Given the description of an element on the screen output the (x, y) to click on. 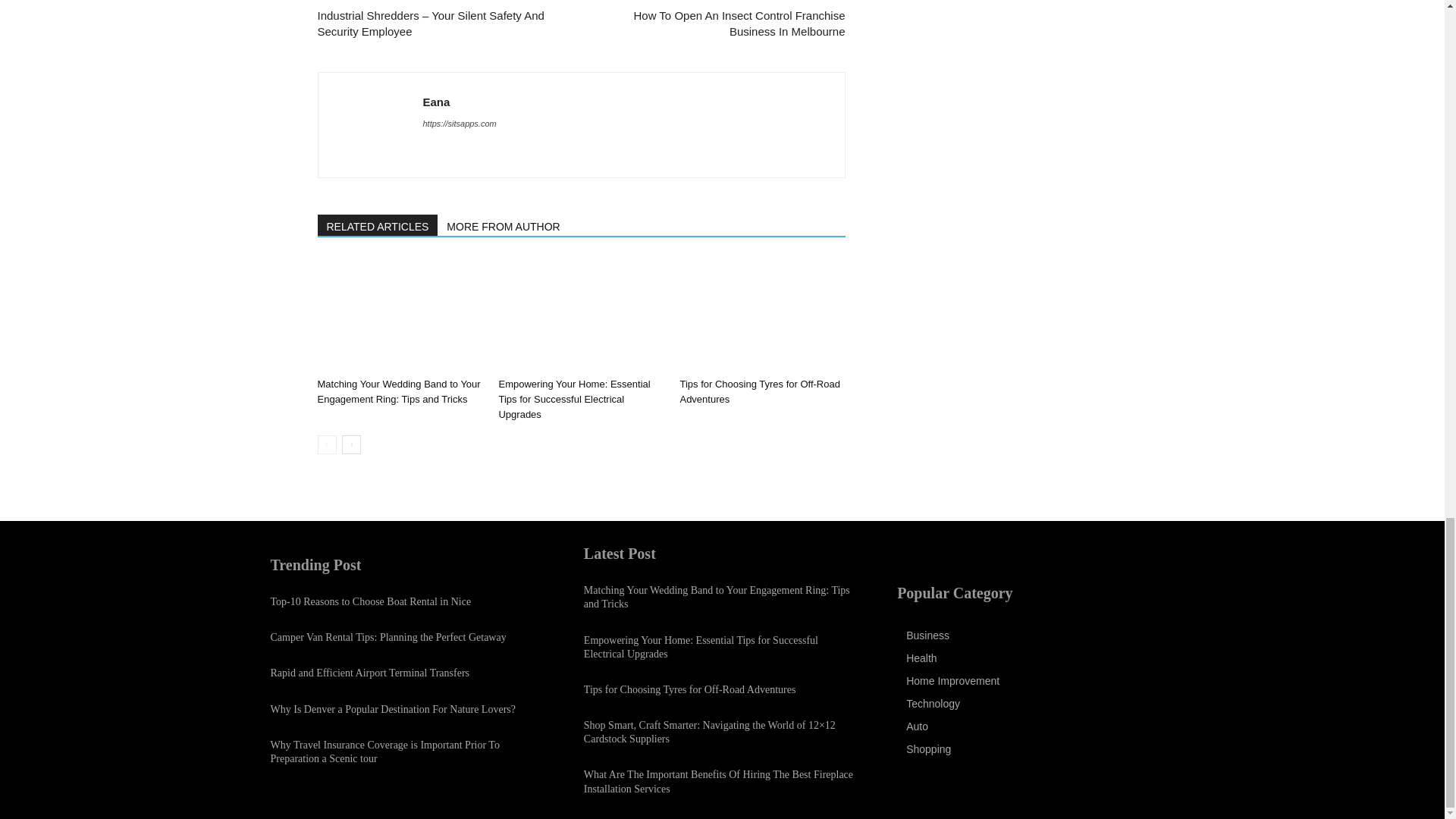
Tips for Choosing Tyres for Off-Road Adventures (759, 391)
Tips for Choosing Tyres for Off-Road Adventures (761, 314)
